Given the description of an element on the screen output the (x, y) to click on. 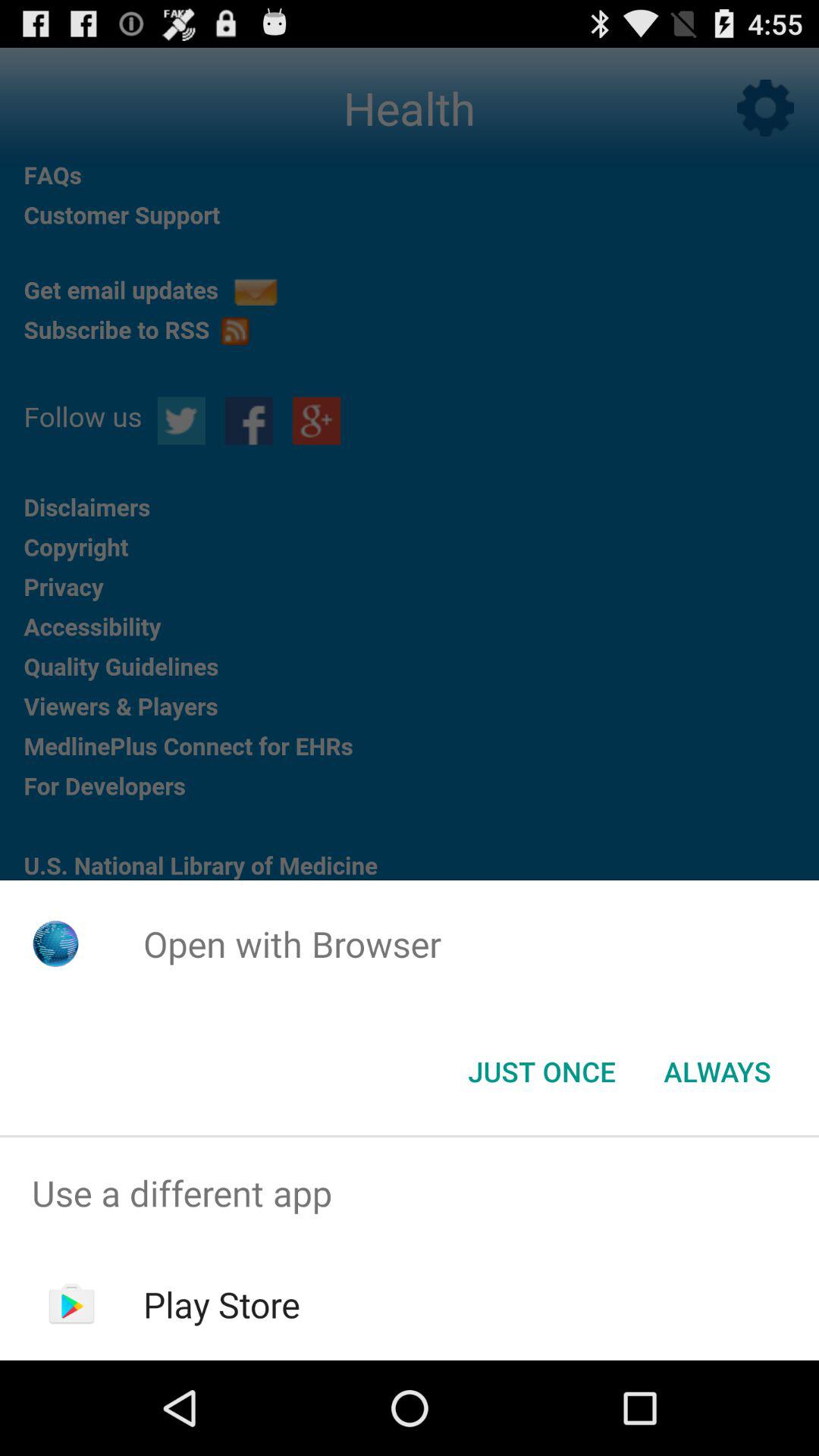
turn on the icon next to the just once (717, 1071)
